Given the description of an element on the screen output the (x, y) to click on. 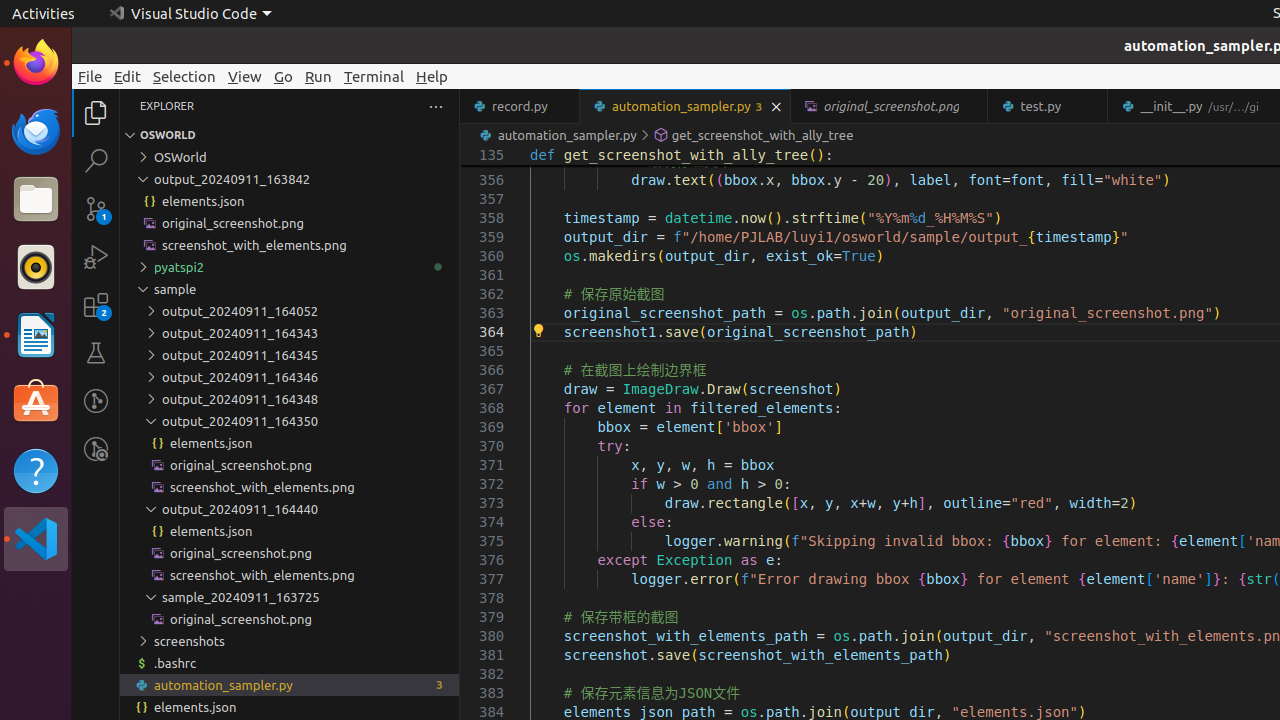
output_20240911_164348 Element type: tree-item (289, 399)
screenshots Element type: tree-item (289, 641)
Selection Element type: push-button (184, 76)
pyatspi2 Element type: tree-item (289, 267)
Terminal Element type: push-button (374, 76)
